Given the description of an element on the screen output the (x, y) to click on. 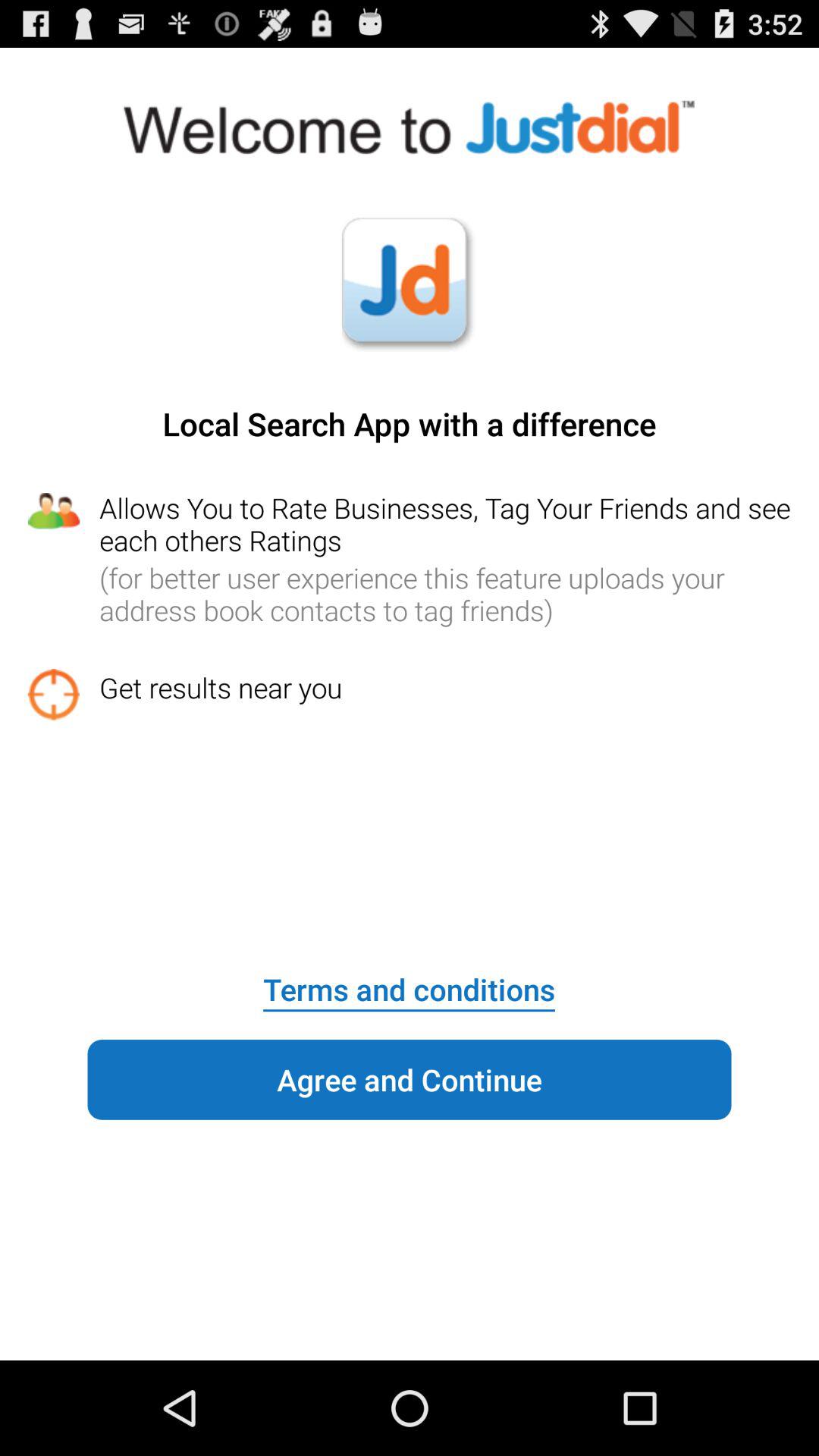
scroll to agree and continue (409, 1079)
